Given the description of an element on the screen output the (x, y) to click on. 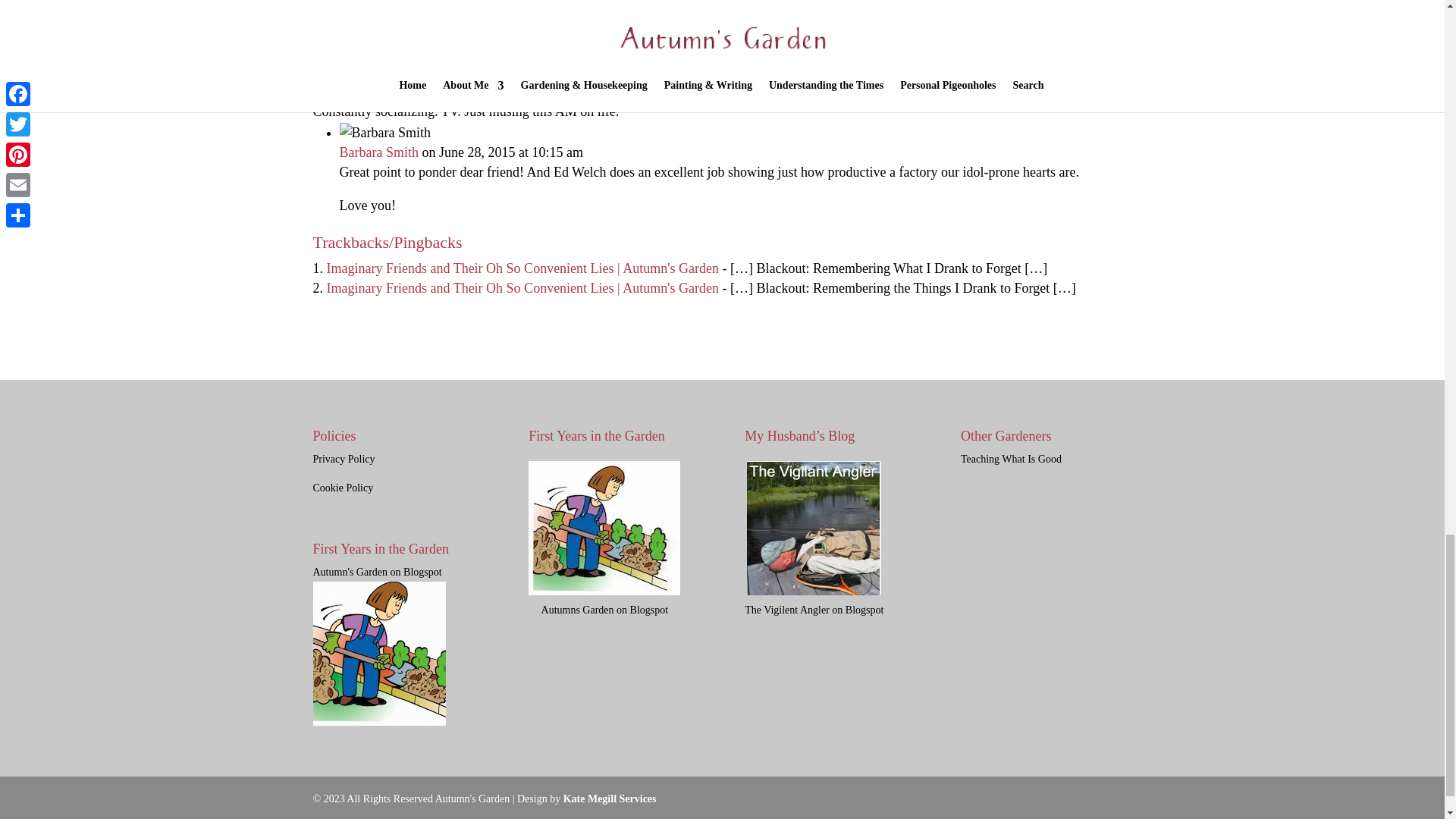
Teaching What Is Good (1010, 459)
Autumn's Garden on Blogspot (379, 647)
The Vigilent Angler on Blogspot (813, 602)
Privacy Policy (343, 459)
Barbara Smith (379, 151)
Autumns Garden on Blogspot (603, 600)
Kate Megill Services (609, 798)
Cookie Policy (342, 487)
